Given the description of an element on the screen output the (x, y) to click on. 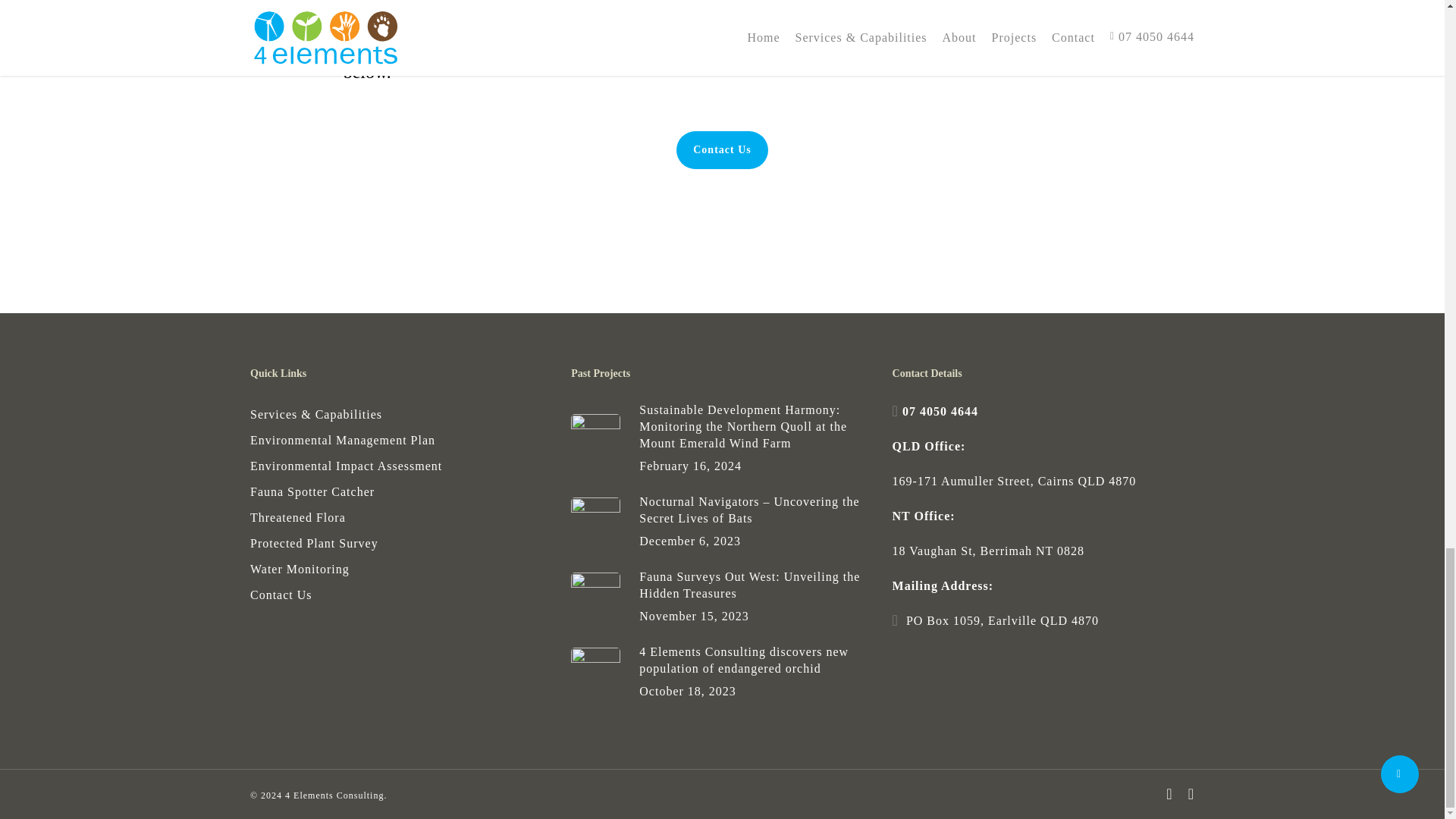
Environmental Impact Assessment (400, 465)
Threatened Flora (400, 517)
Fauna Spotter Catcher (400, 492)
Environmental Management Plan (400, 440)
Contact Us (722, 149)
